Given the description of an element on the screen output the (x, y) to click on. 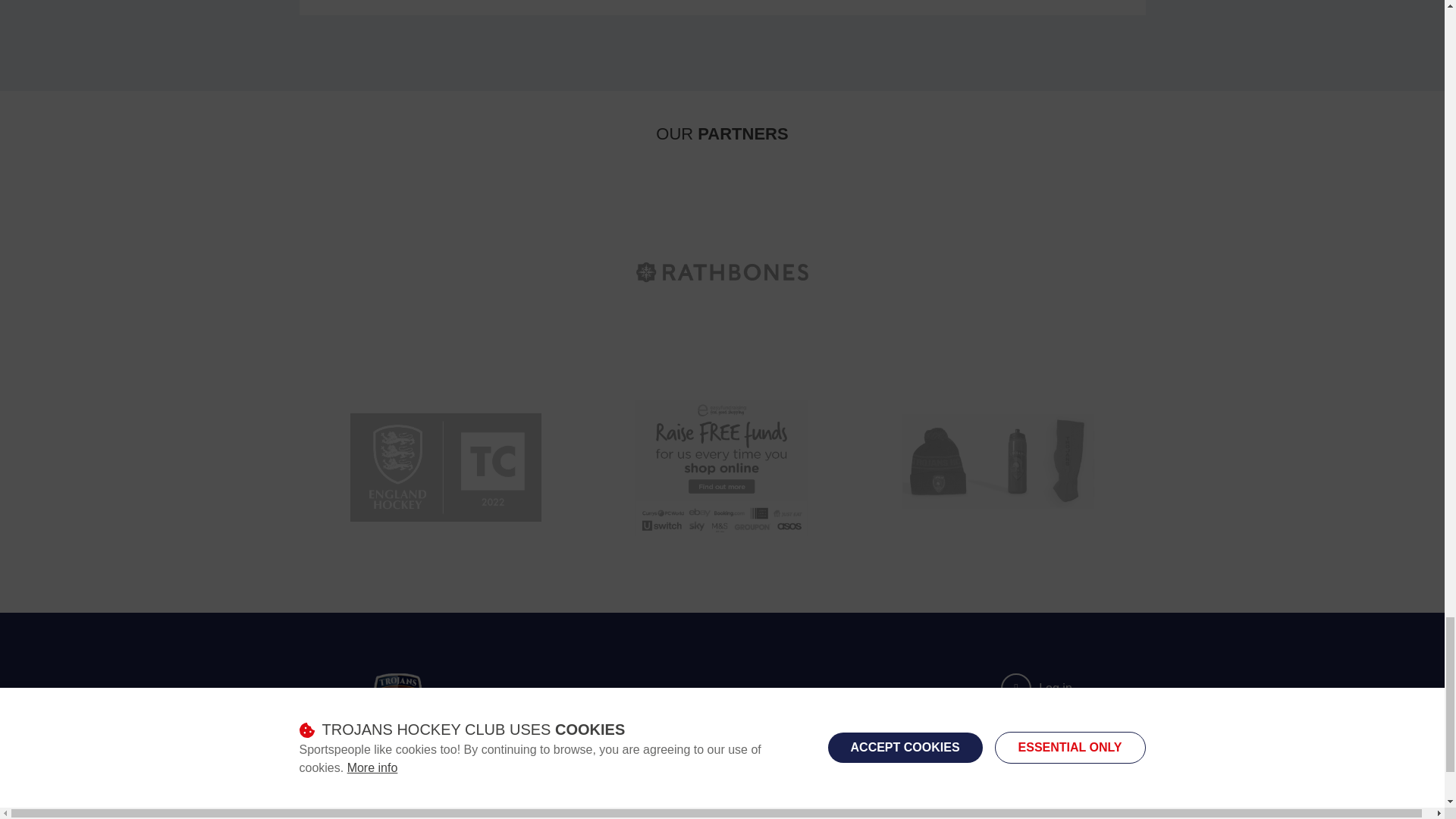
Raise Funds for the club, for free with EasyFundraising (722, 466)
Club Shop (998, 466)
Rathbones (722, 271)
